Given the description of an element on the screen output the (x, y) to click on. 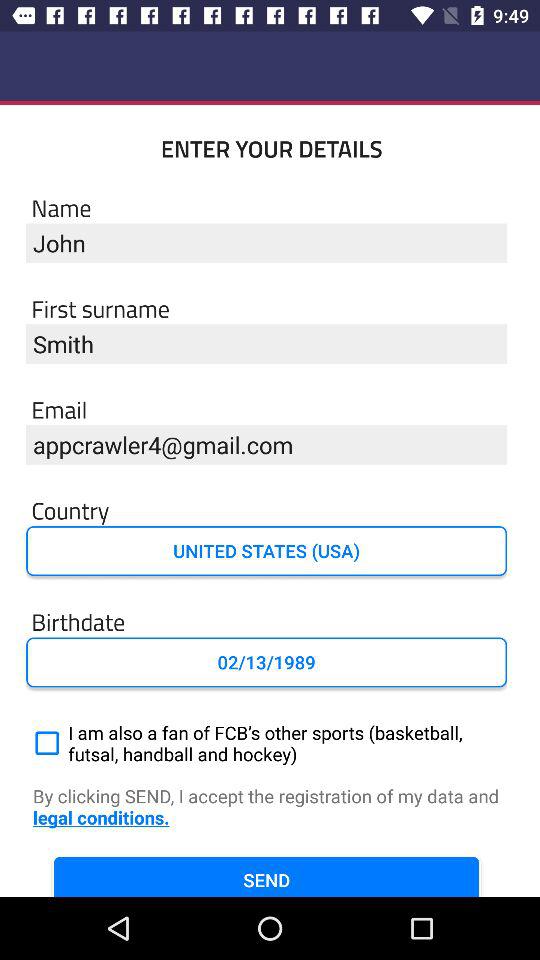
flip to i am also (266, 743)
